Given the description of an element on the screen output the (x, y) to click on. 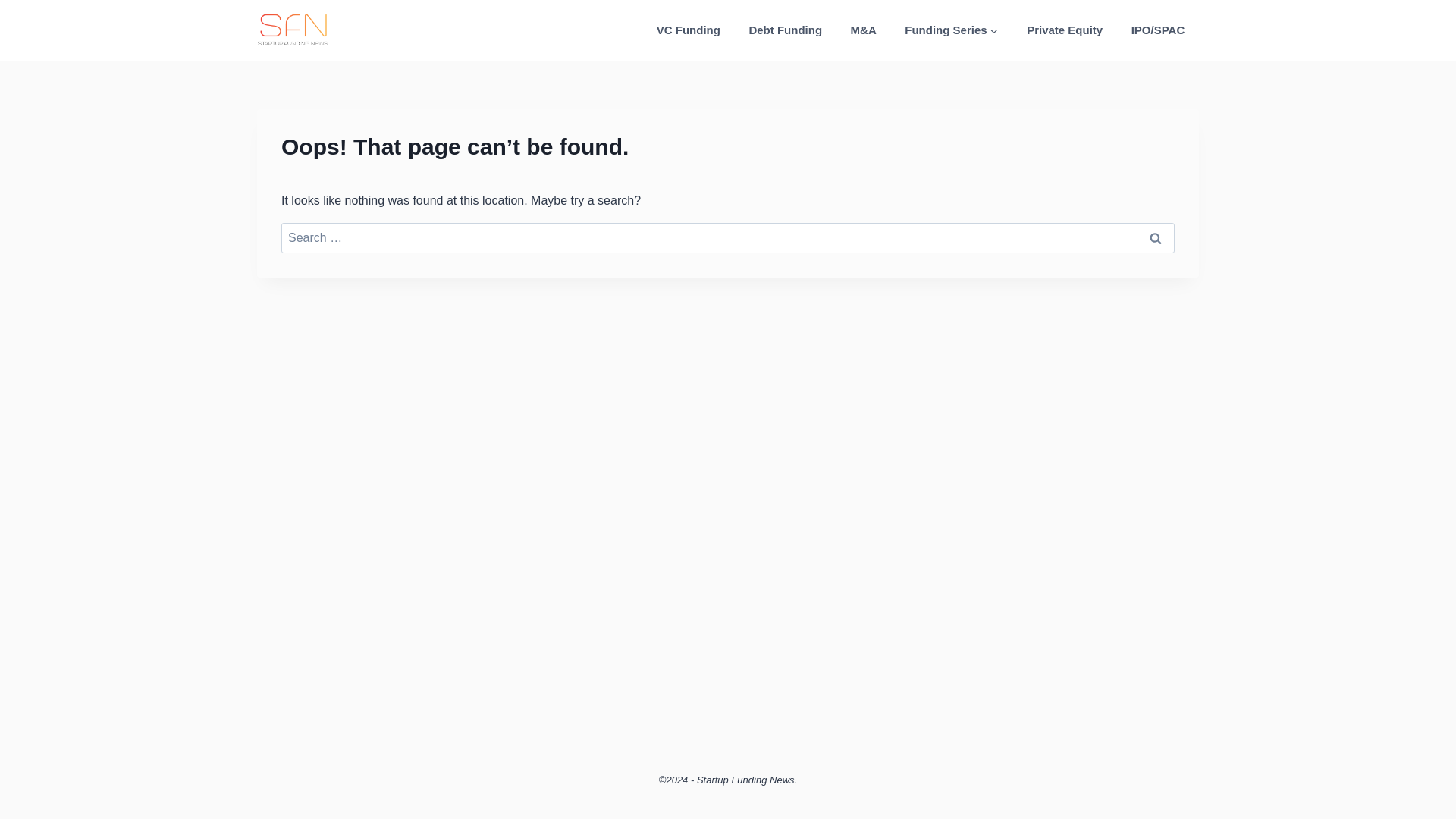
Search (1155, 237)
VC Funding (688, 29)
Search (1155, 237)
Private Equity (1063, 29)
Debt Funding (785, 29)
Funding Series (952, 29)
Search (1155, 237)
